Given the description of an element on the screen output the (x, y) to click on. 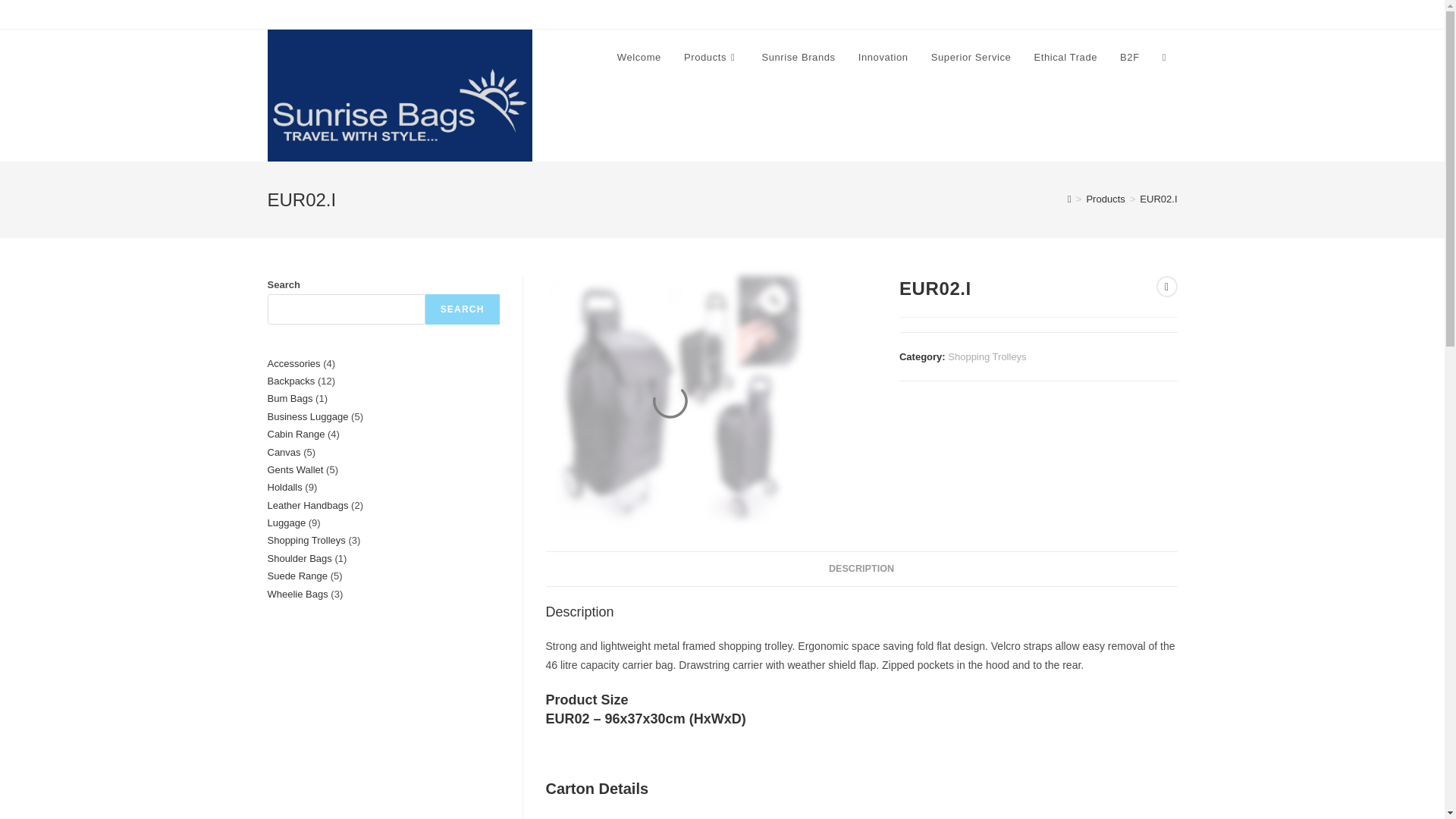
Welcome (638, 57)
Innovation (883, 57)
Products (710, 57)
EUR02-BK (671, 402)
Ethical Trade (1065, 57)
Superior Service (971, 57)
Sunrise Brands (797, 57)
